Given the description of an element on the screen output the (x, y) to click on. 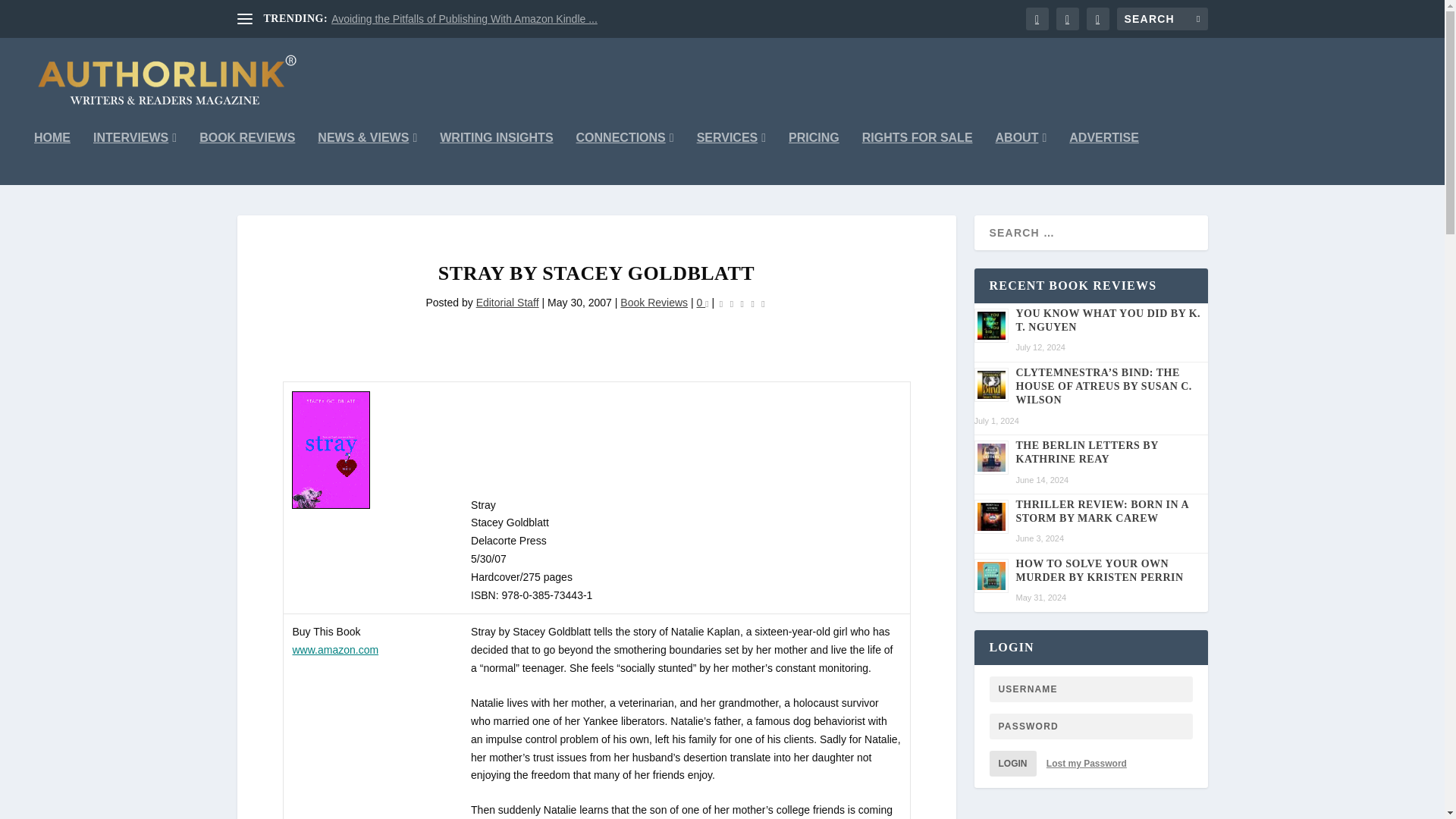
BOOK REVIEWS (247, 158)
SERVICES (731, 158)
PRICING (814, 158)
RIGHTS FOR SALE (916, 158)
Posts by Editorial Staff (507, 302)
INTERVIEWS (134, 158)
Search for: (1161, 18)
CONNECTIONS (625, 158)
Rating: 0.00 (742, 303)
WRITING INSIGHTS (496, 158)
ABOUT (1020, 158)
Avoiding the Pitfalls of Publishing With Amazon Kindle ... (463, 19)
